Given the description of an element on the screen output the (x, y) to click on. 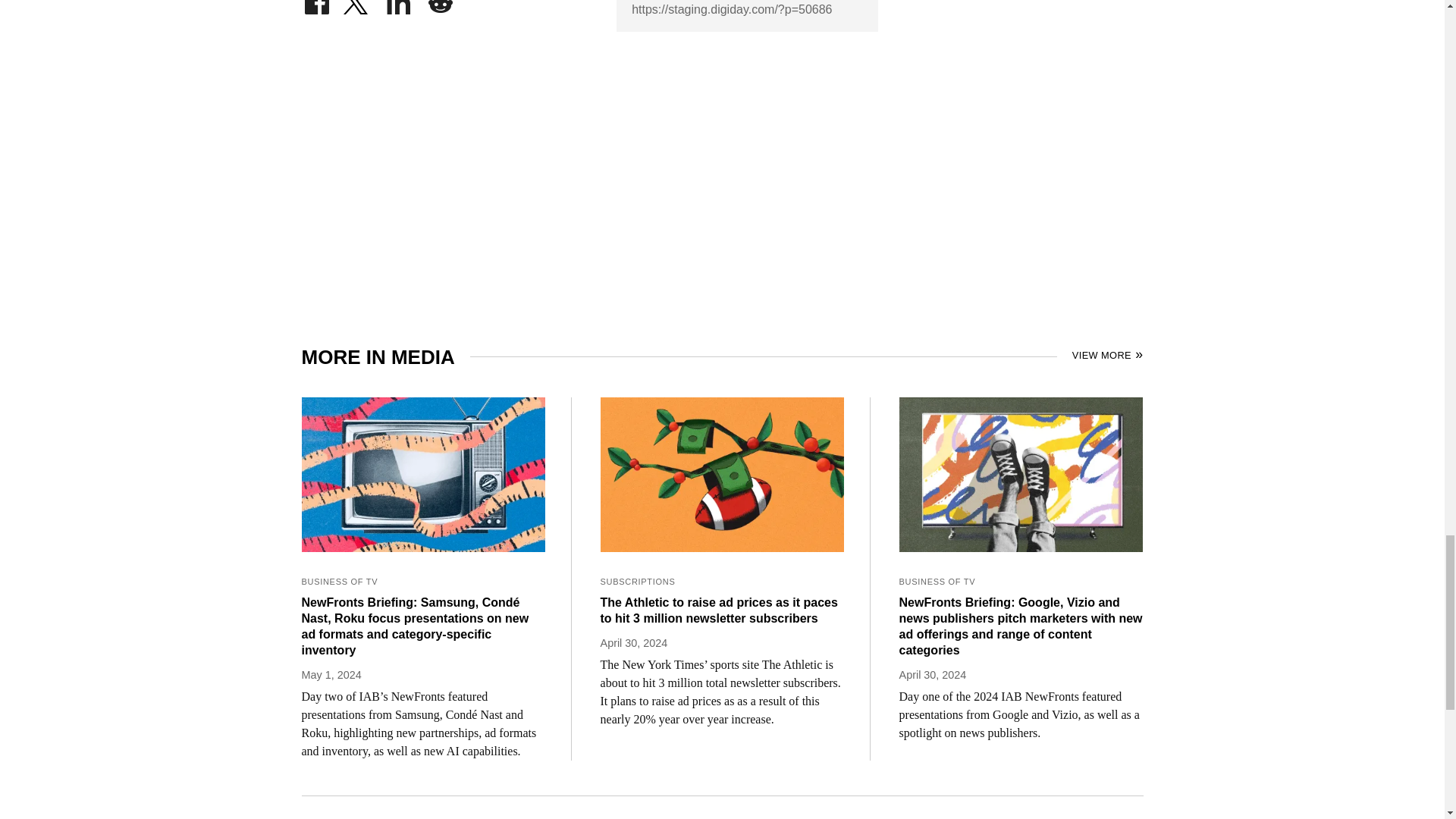
Share on LinkedIn (398, 2)
Share on Facebook (316, 2)
Share on Reddit (440, 2)
Share on Twitter (357, 2)
